Given the description of an element on the screen output the (x, y) to click on. 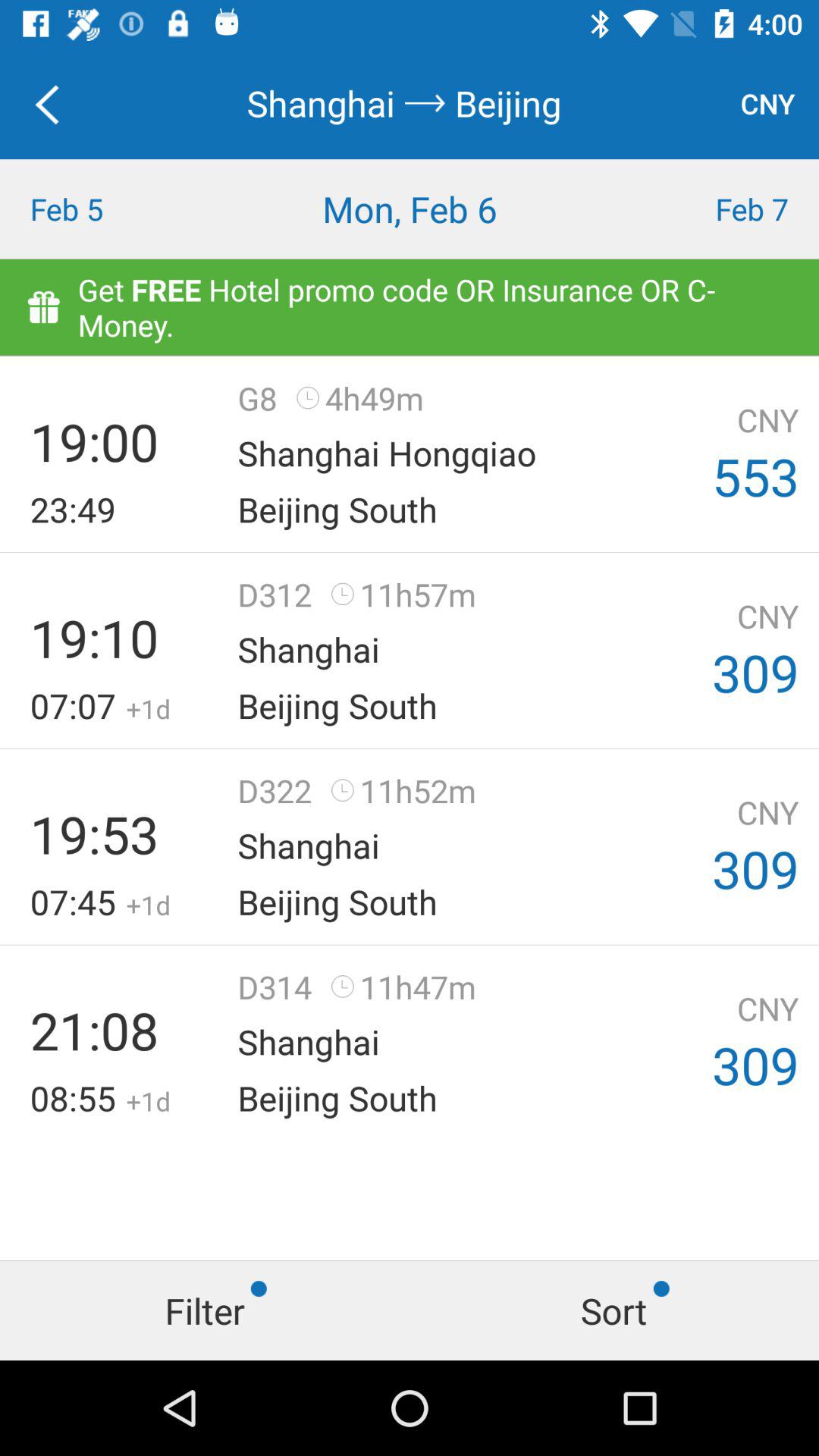
open the icon to the left of mon, feb 6 icon (102, 208)
